Given the description of an element on the screen output the (x, y) to click on. 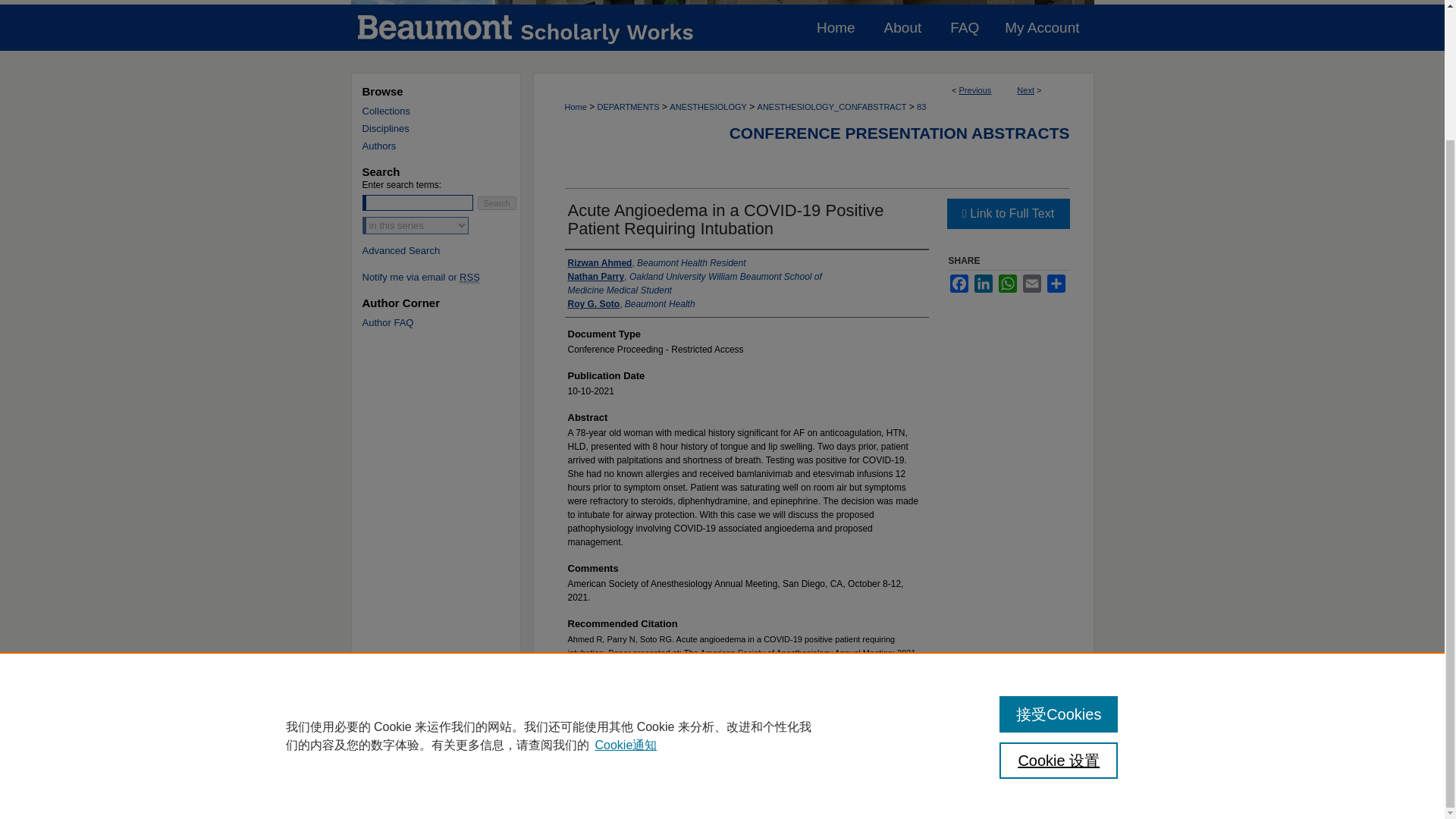
My Account (1042, 27)
Really Simple Syndication (470, 277)
Browse by Collections (447, 111)
Disciplines (447, 128)
ANESTHESIOLOGY (707, 106)
Previous (975, 90)
WhatsApp (1006, 283)
Author FAQ (447, 322)
My Account (1042, 27)
About (902, 27)
Authors (447, 145)
LinkedIn (982, 283)
Next (1024, 90)
Rizwan Ahmed, Beaumont Health Resident (656, 263)
Browse by Author (447, 145)
